Given the description of an element on the screen output the (x, y) to click on. 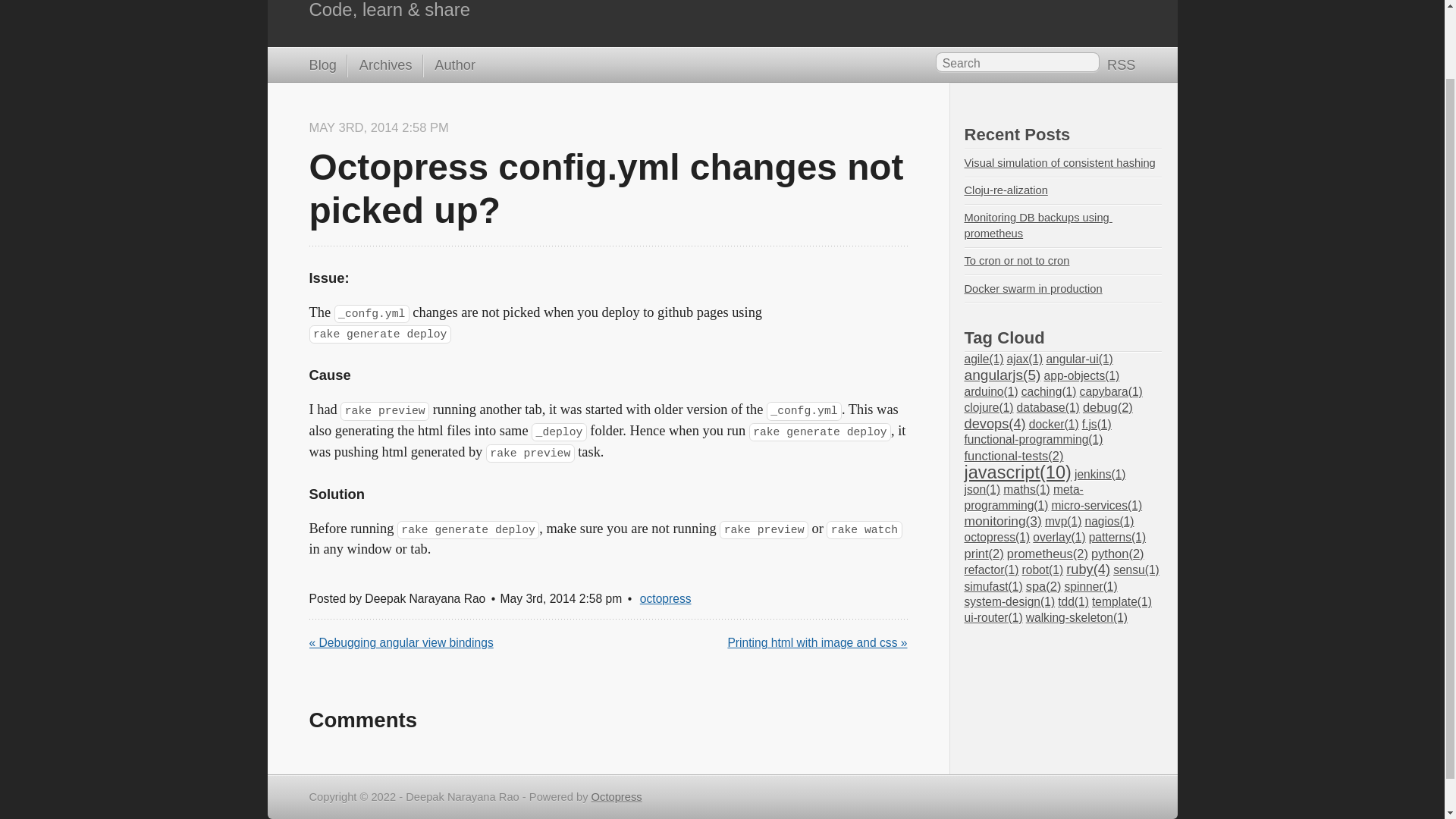
Blog (322, 65)
Author (449, 65)
Archives (379, 65)
Next Post: Printing html with image and css (816, 642)
Previous Post: Debugging angular view bindings (400, 642)
octopress (665, 598)
